Given the description of an element on the screen output the (x, y) to click on. 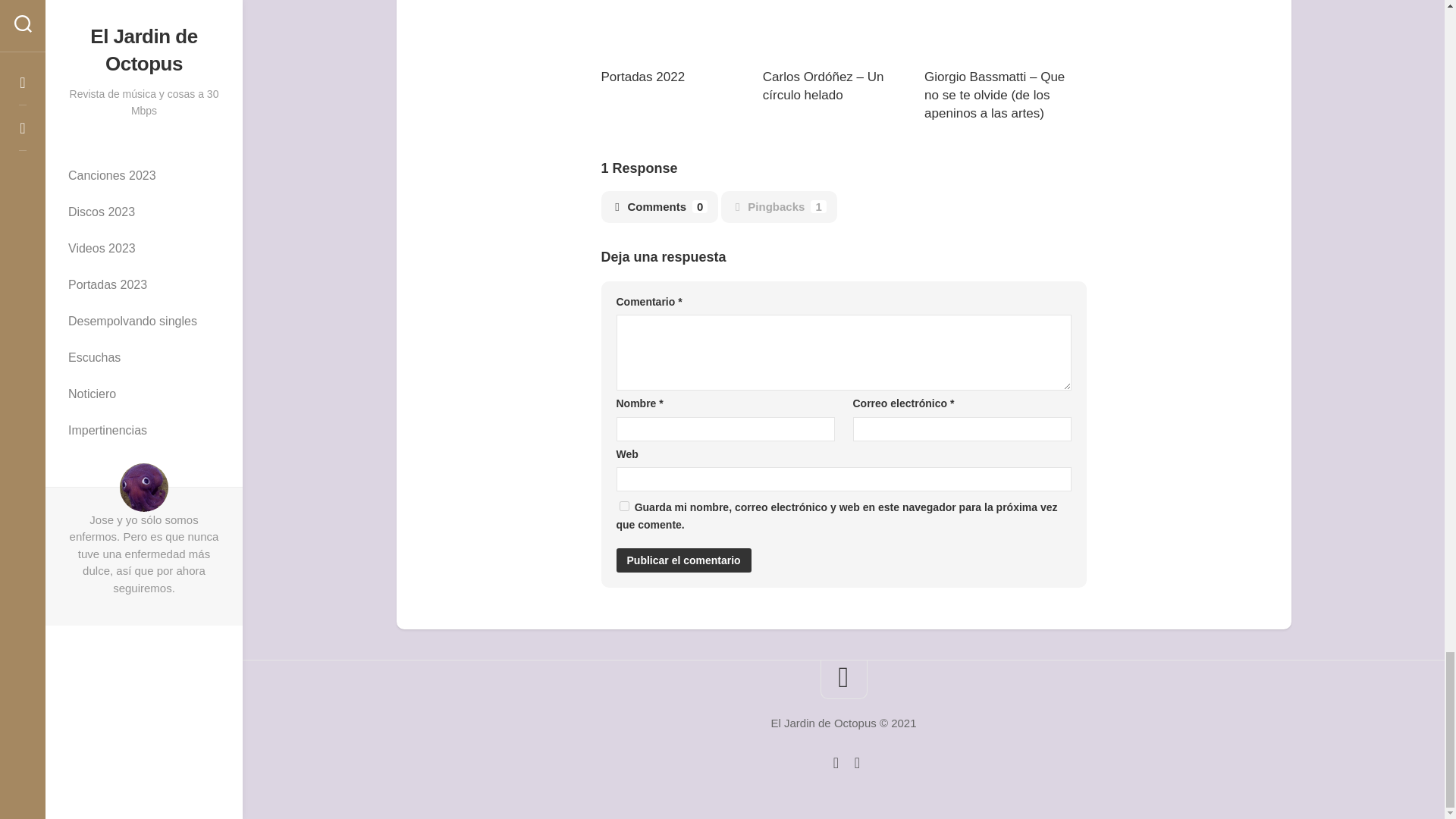
yes (623, 506)
Publicar el comentario (683, 559)
Twitter (835, 762)
Mail (856, 762)
Portadas 2022 (641, 76)
